Given the description of an element on the screen output the (x, y) to click on. 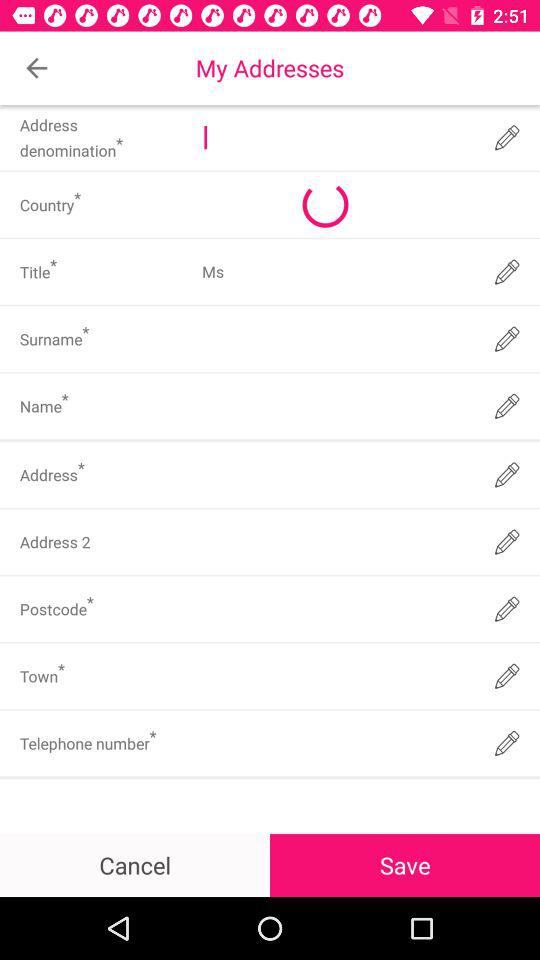
add address (335, 137)
